Given the description of an element on the screen output the (x, y) to click on. 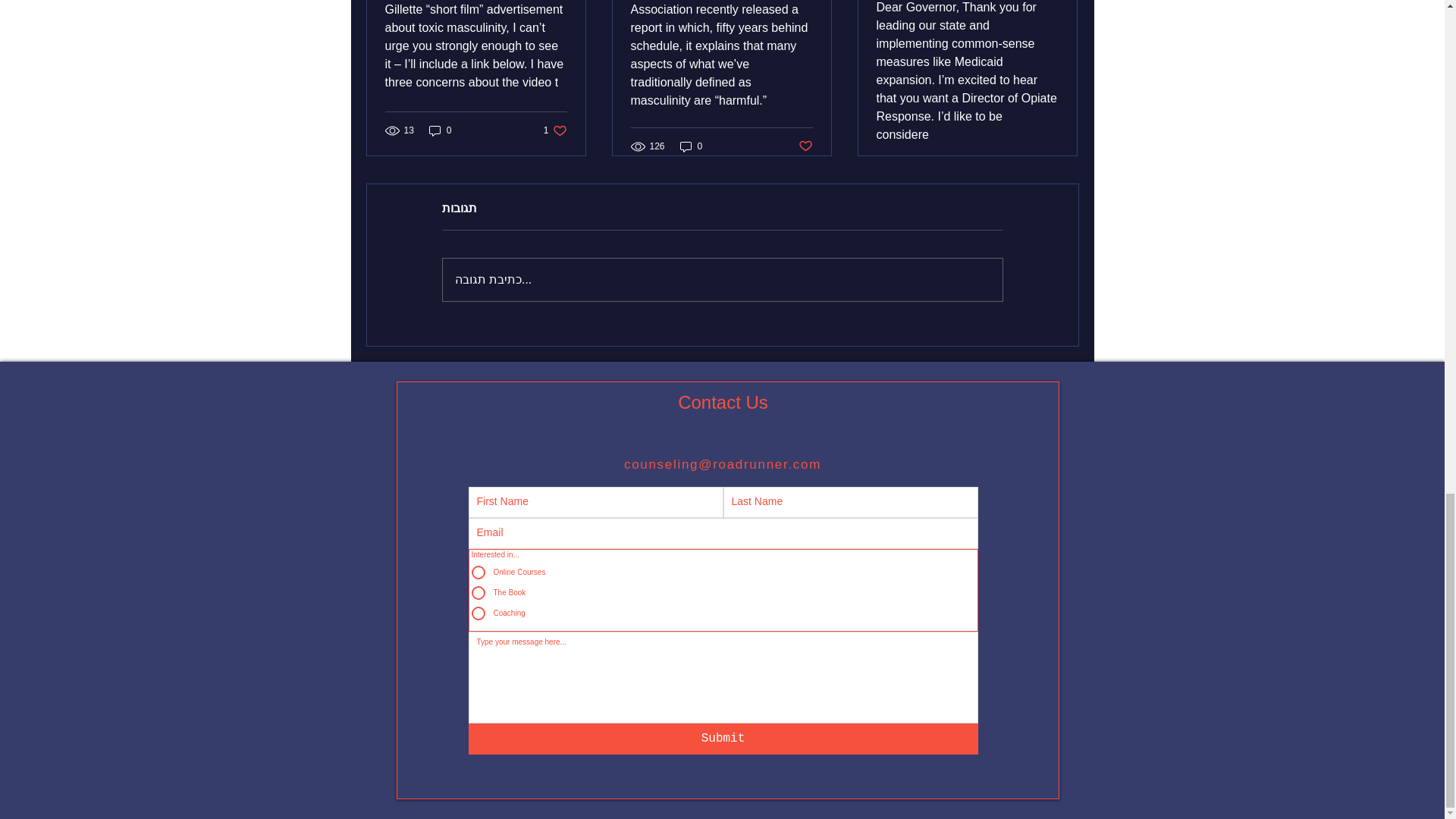
0 (555, 130)
0 (440, 130)
Post not marked as liked (691, 146)
